Given the description of an element on the screen output the (x, y) to click on. 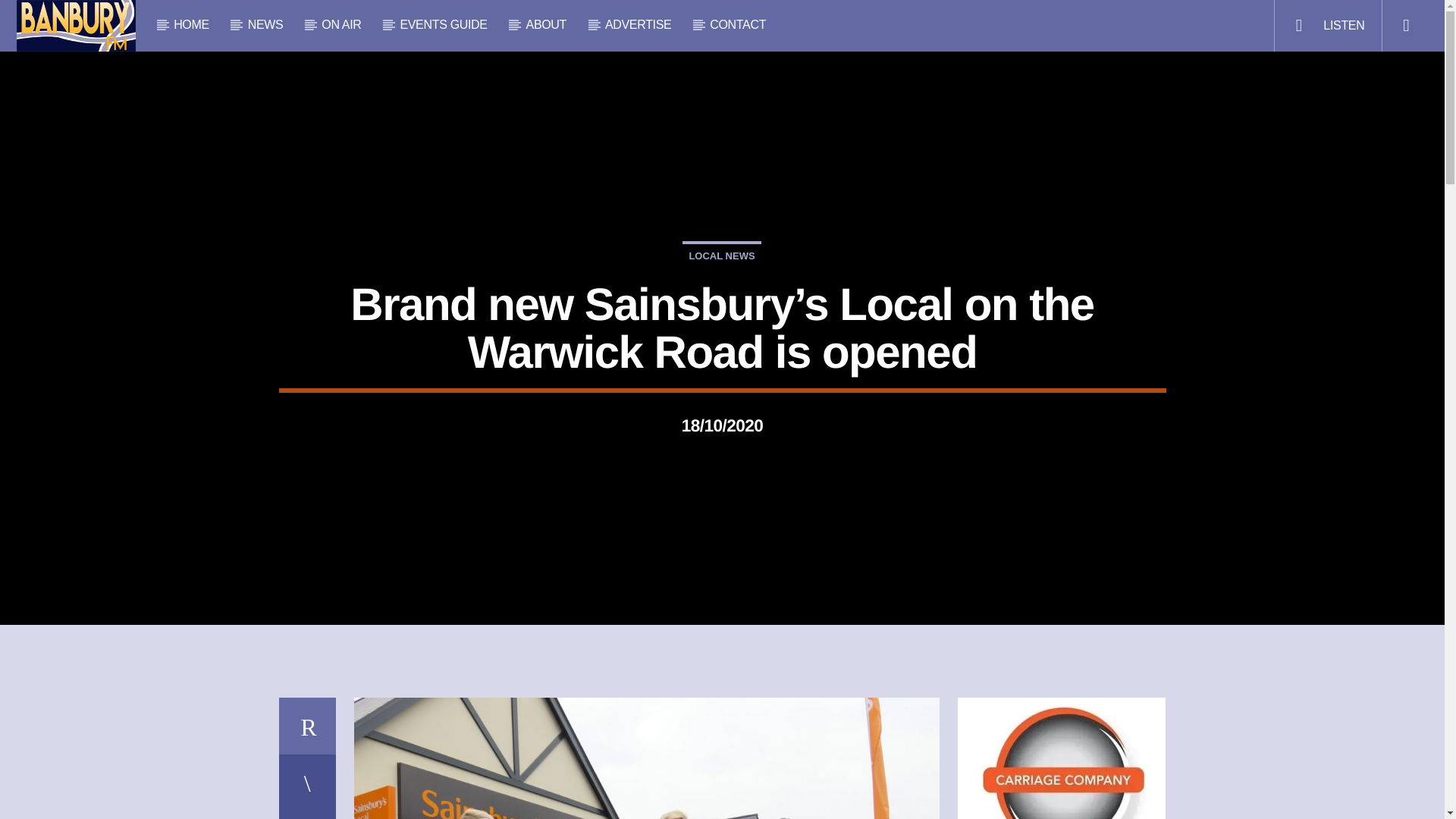
HOME (192, 24)
LISTEN (1327, 25)
ABOUT (545, 24)
ON AIR (341, 24)
ADVERTISE (638, 24)
EVENTS GUIDE (442, 24)
CONTACT (738, 24)
NEWS (264, 24)
